Given the description of an element on the screen output the (x, y) to click on. 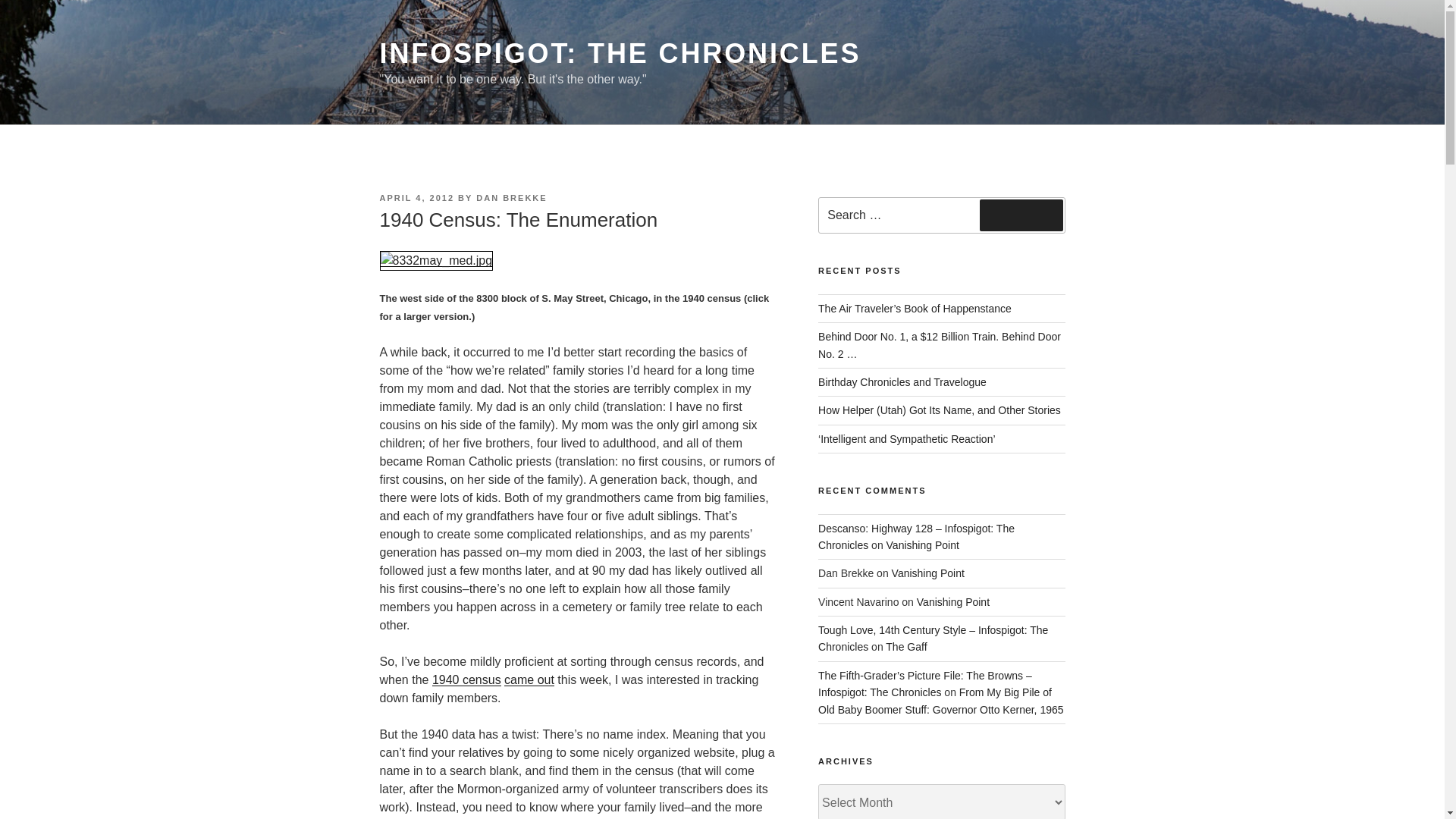
1940 census (466, 679)
Birthday Chronicles and Travelogue (902, 381)
APRIL 4, 2012 (416, 197)
INFOSPIGOT: THE CHRONICLES (619, 52)
DAN BREKKE (511, 197)
came out (528, 679)
Search (1020, 214)
